Given the description of an element on the screen output the (x, y) to click on. 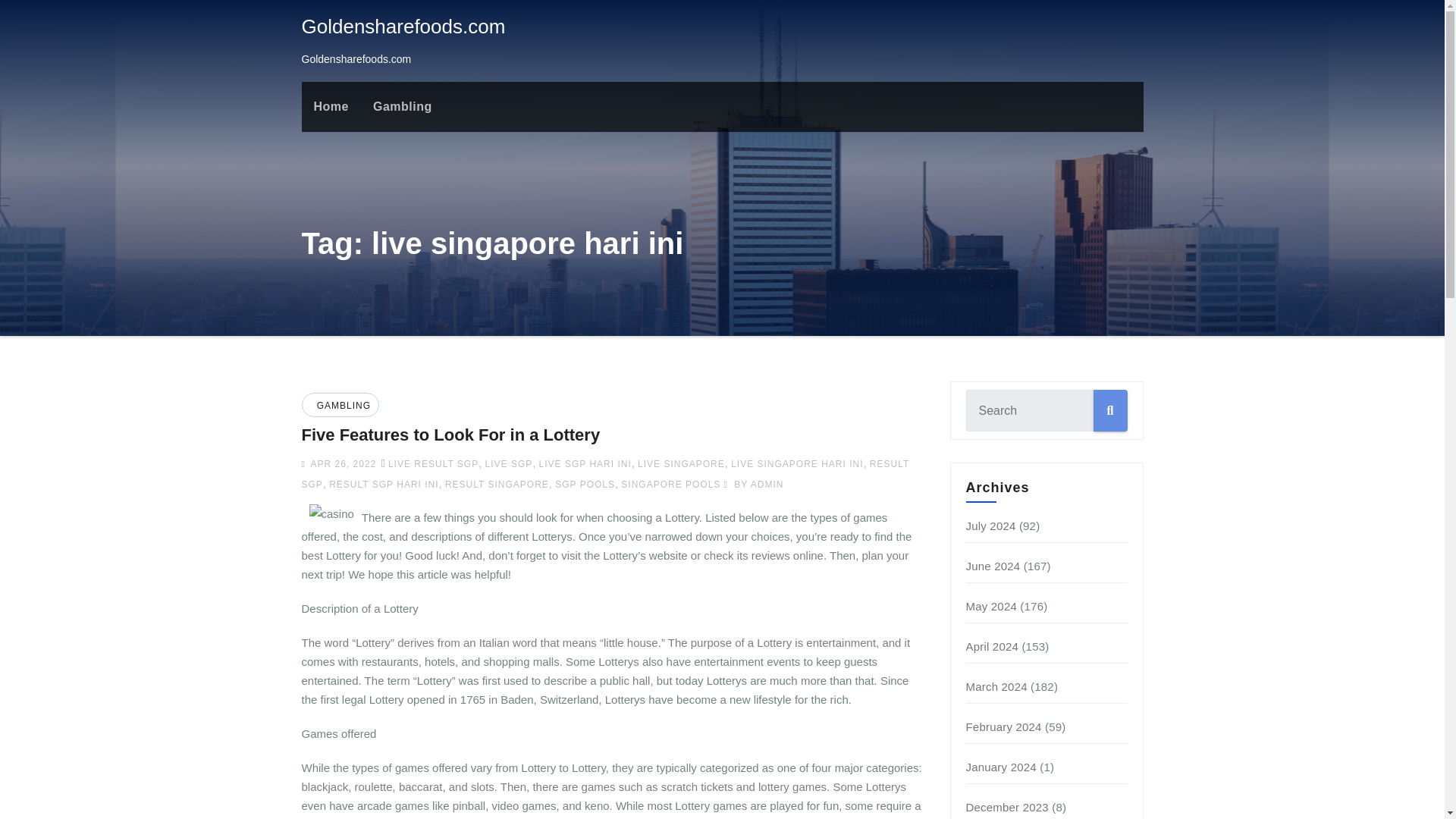
April 2024 (992, 645)
RESULT SGP (605, 473)
LIVE SINGAPORE (681, 463)
BY ADMIN (753, 484)
Gambling (402, 106)
LIVE RESULT SGP (433, 463)
SGP POOLS (584, 484)
APR 26, 2022 (341, 463)
Gambling (402, 106)
LIVE SINGAPORE HARI INI (796, 463)
Home (331, 106)
GAMBLING (342, 405)
LIVE SGP (508, 463)
SINGAPORE POOLS (670, 484)
May 2024 (991, 605)
